Given the description of an element on the screen output the (x, y) to click on. 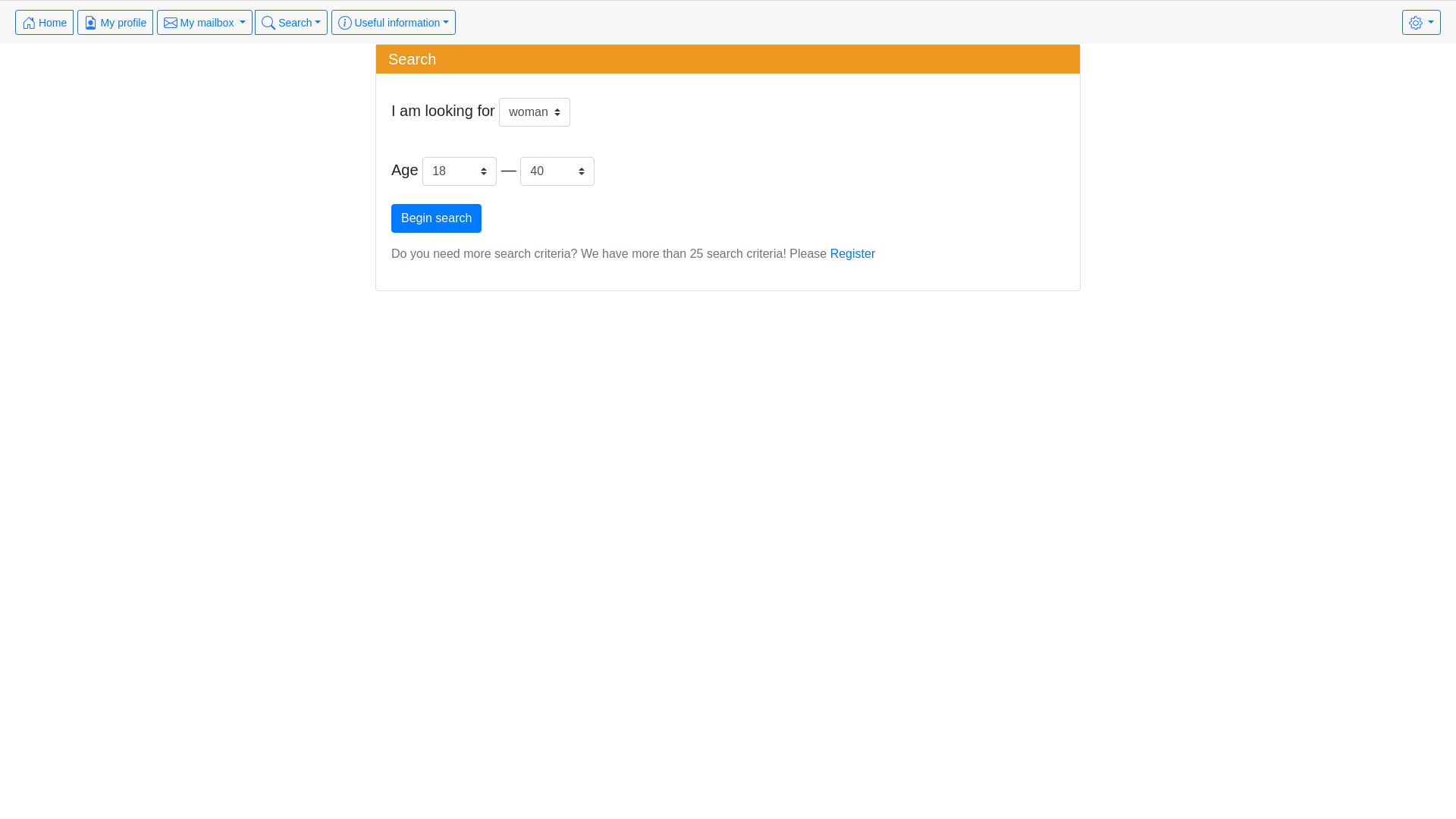
Register Element type: text (852, 253)
Home Element type: text (44, 21)
Search Element type: text (290, 21)
Useful information Element type: text (393, 21)
Begin search Element type: text (436, 217)
My profile Element type: text (115, 21)
My mailbox Element type: text (204, 21)
